Given the description of an element on the screen output the (x, y) to click on. 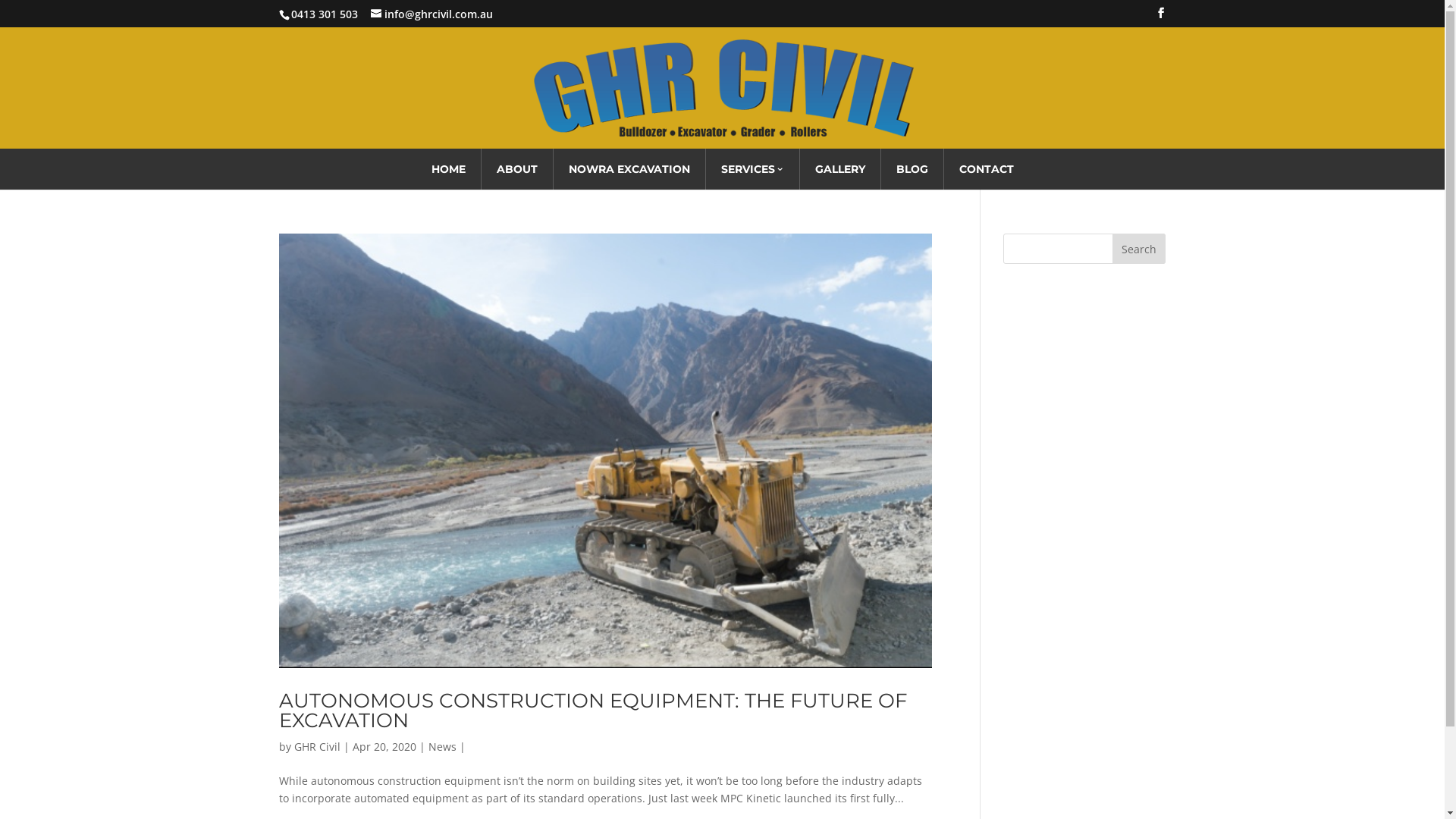
SERVICES Element type: text (751, 168)
ABOUT Element type: text (516, 168)
NOWRA EXCAVATION Element type: text (629, 168)
CONTACT Element type: text (985, 168)
GALLERY Element type: text (839, 168)
News Element type: text (441, 746)
0413 301 503 Element type: text (324, 13)
Search Element type: text (1138, 248)
HOME Element type: text (447, 168)
BLOG Element type: text (912, 168)
AUTONOMOUS CONSTRUCTION EQUIPMENT: THE FUTURE OF EXCAVATION Element type: text (592, 710)
GHR Civil Element type: text (317, 746)
info@ghrcivil.com.au Element type: text (431, 13)
